Given the description of an element on the screen output the (x, y) to click on. 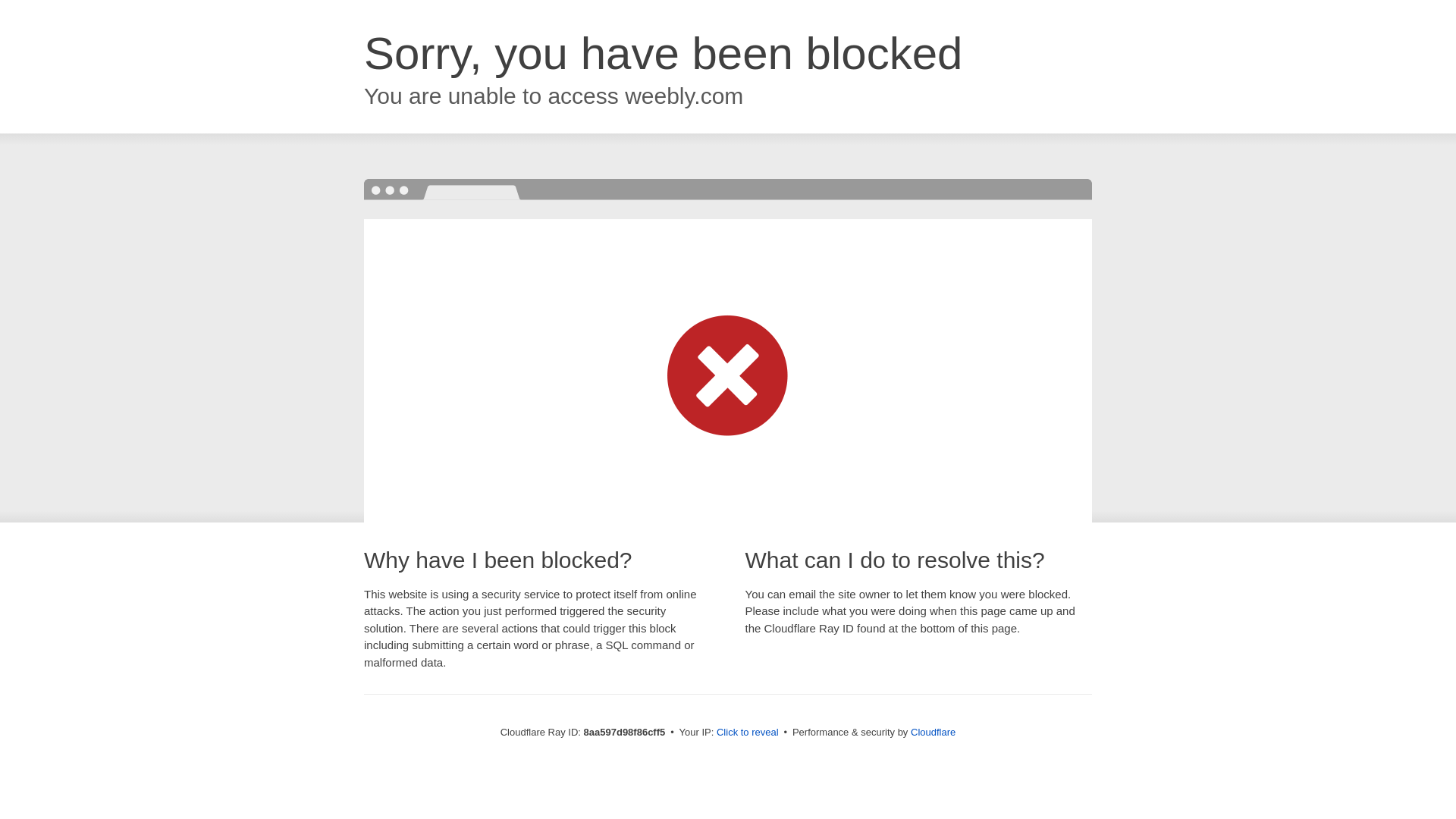
Cloudflare (933, 731)
Click to reveal (747, 732)
